Given the description of an element on the screen output the (x, y) to click on. 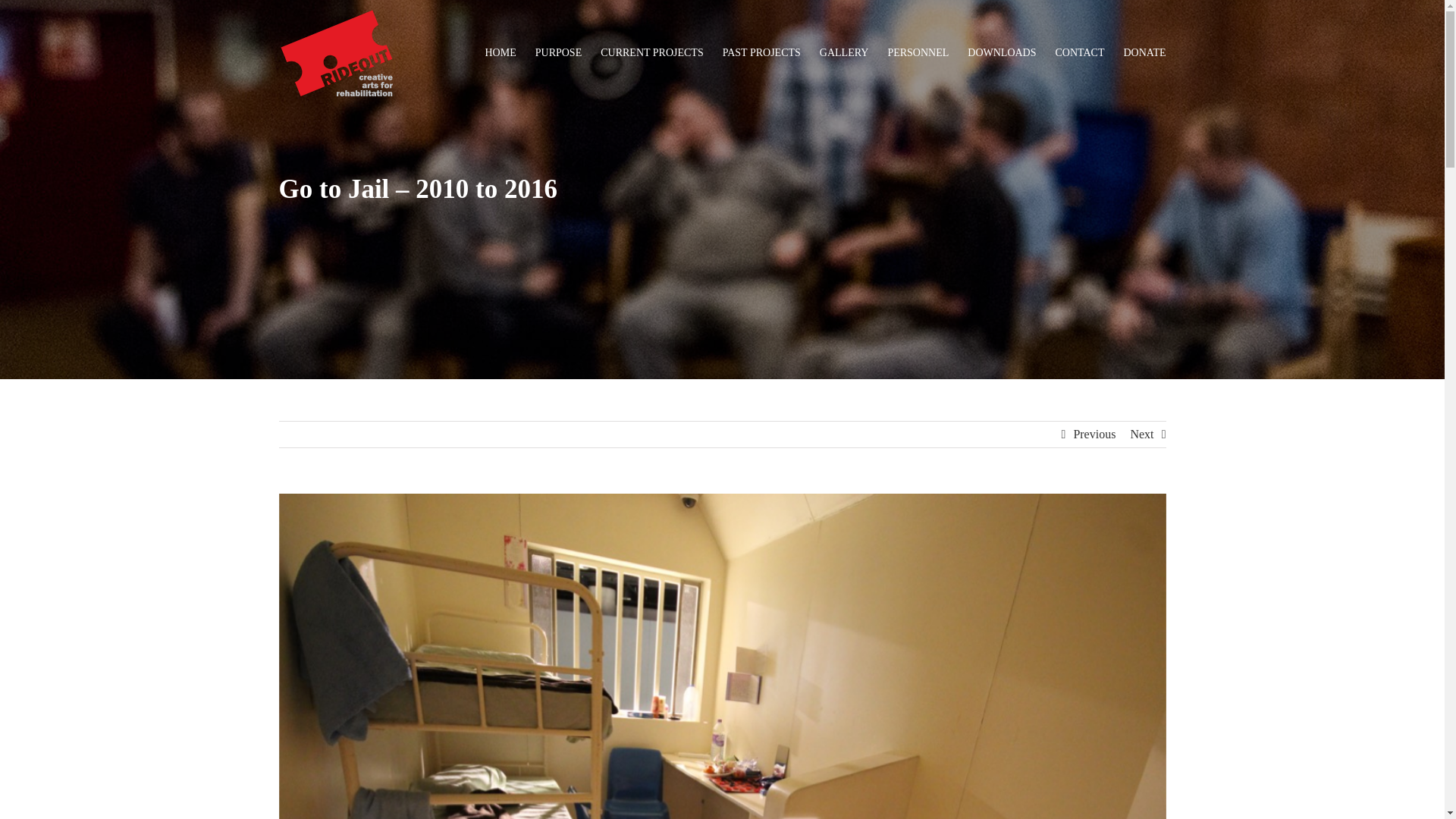
CURRENT PROJECTS (651, 53)
Previous (1094, 434)
Next (1141, 434)
